Given the description of an element on the screen output the (x, y) to click on. 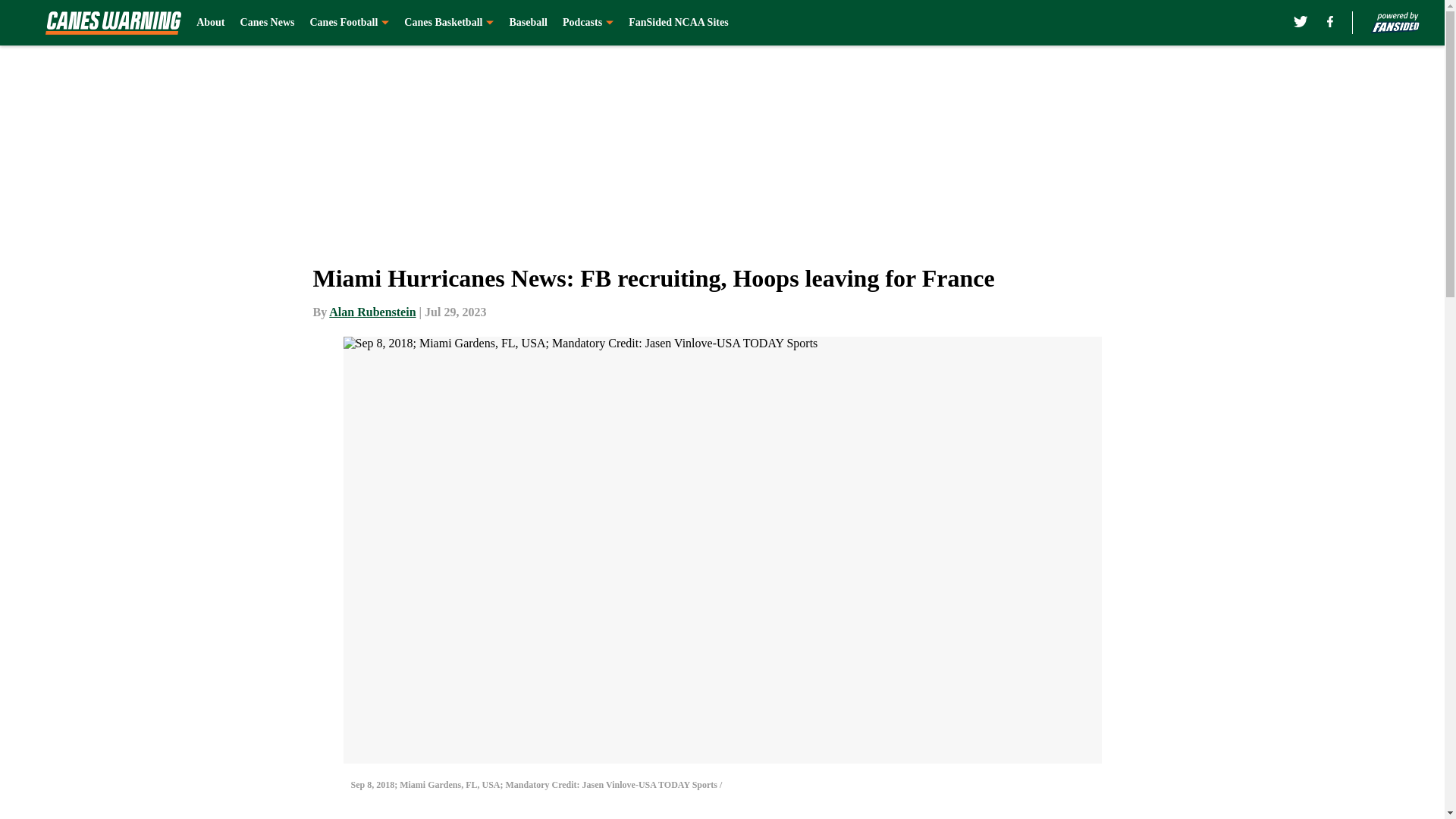
Canes News (267, 22)
Alan Rubenstein (371, 311)
FanSided NCAA Sites (678, 22)
About (210, 22)
Baseball (527, 22)
